Given the description of an element on the screen output the (x, y) to click on. 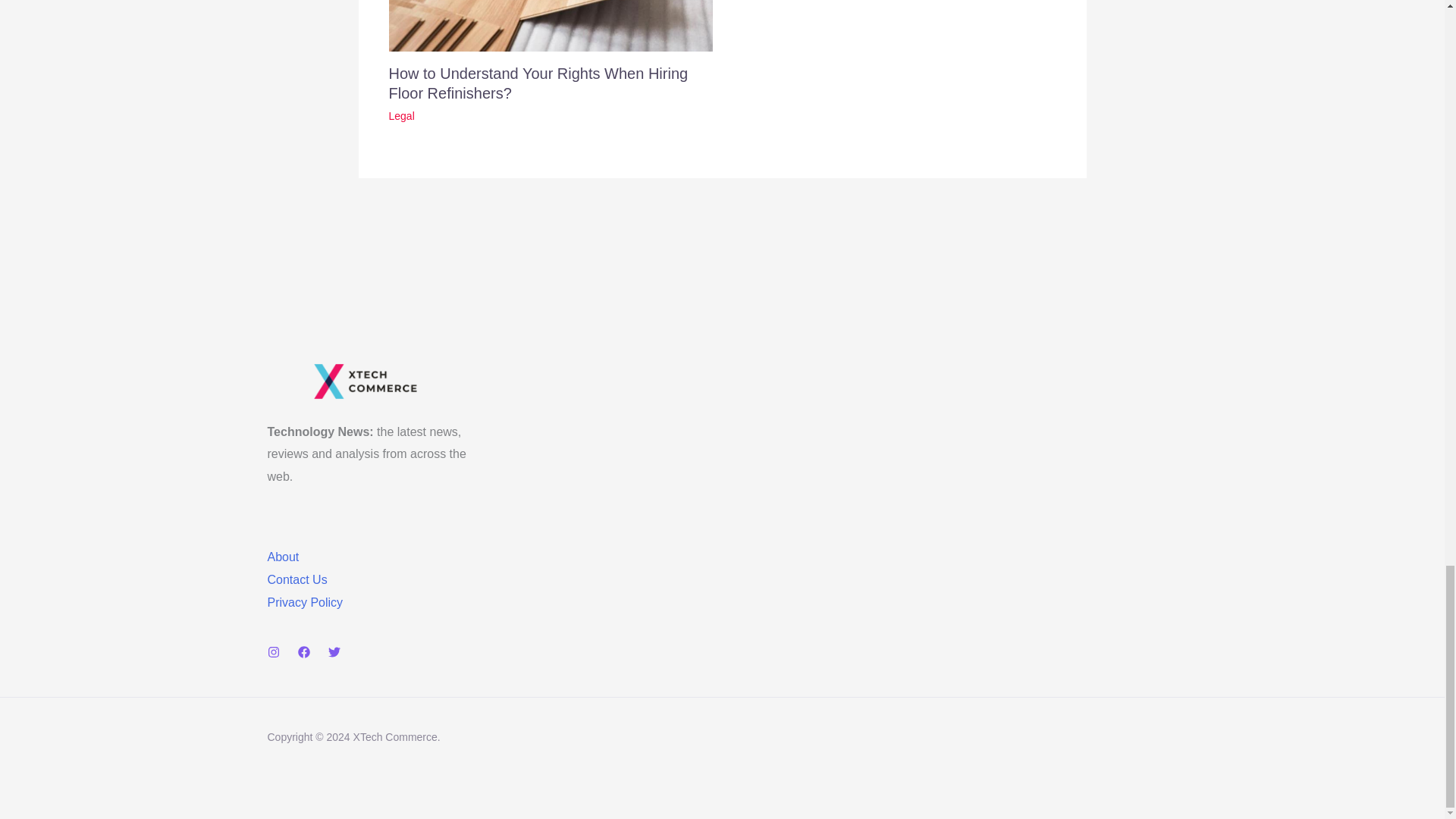
Privacy Policy (304, 602)
How to Understand Your Rights When Hiring Floor Refinishers? (537, 83)
Contact Us (296, 579)
Legal (400, 115)
About (282, 556)
